Given the description of an element on the screen output the (x, y) to click on. 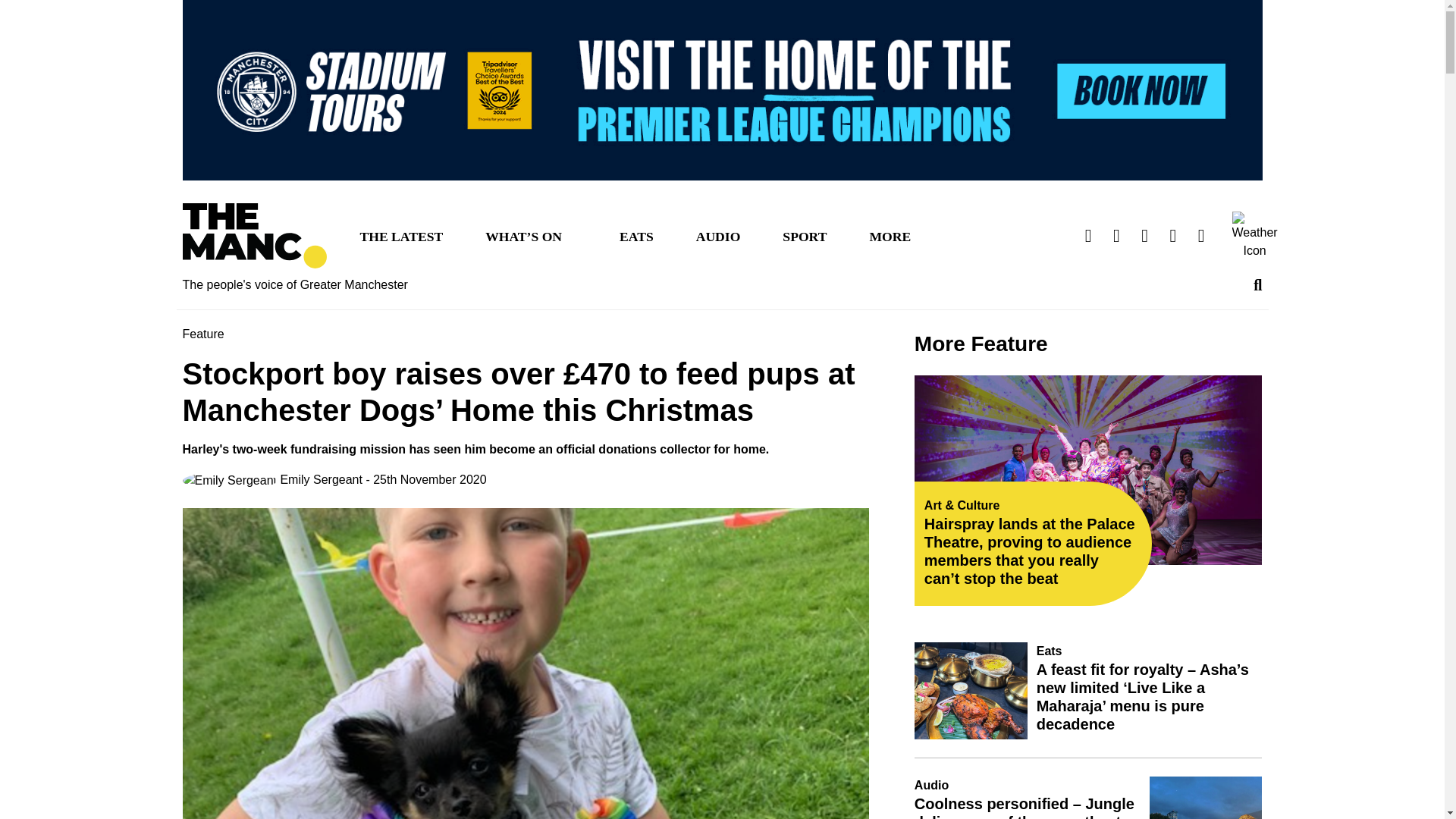
The Manc (254, 236)
THE LATEST (400, 235)
AUDIO (718, 235)
EATS (635, 235)
SPORT (804, 235)
MORE (890, 235)
Emily Sergeant (271, 479)
